Given the description of an element on the screen output the (x, y) to click on. 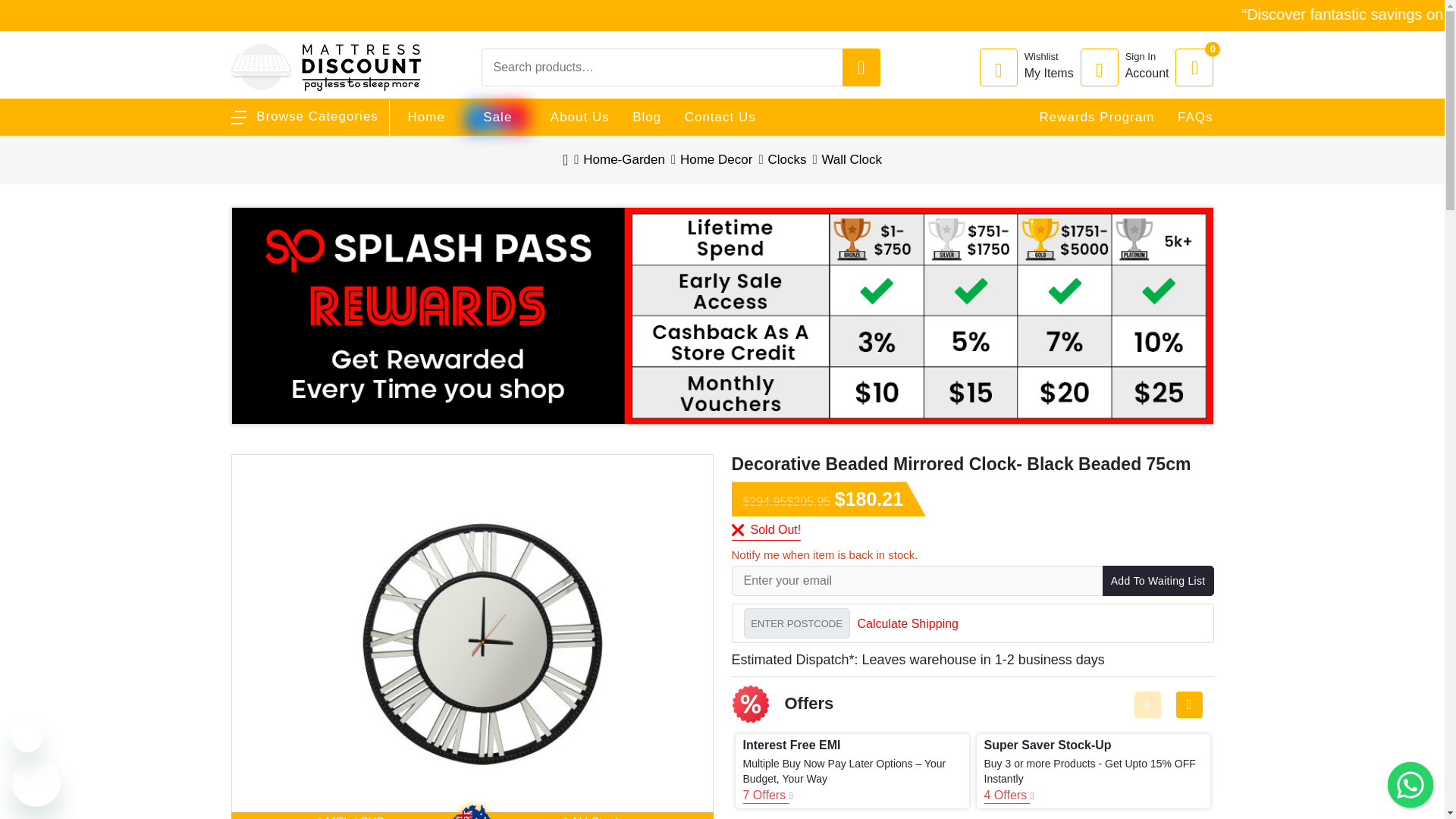
Browse Categories (303, 115)
0 (1193, 67)
View All Product (1128, 67)
Search (1329, 11)
